Given the description of an element on the screen output the (x, y) to click on. 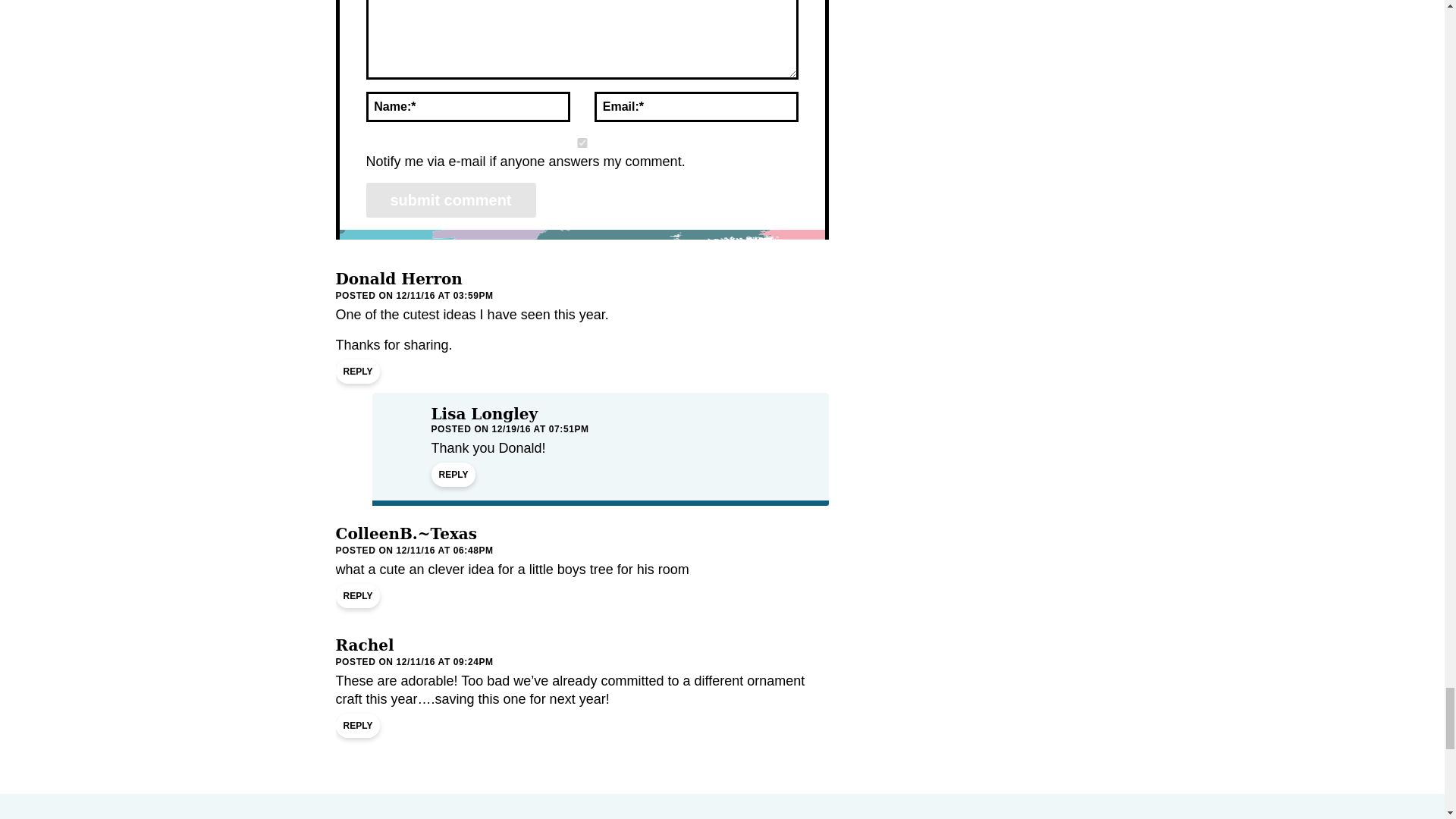
on (581, 143)
submit comment (450, 199)
